Given the description of an element on the screen output the (x, y) to click on. 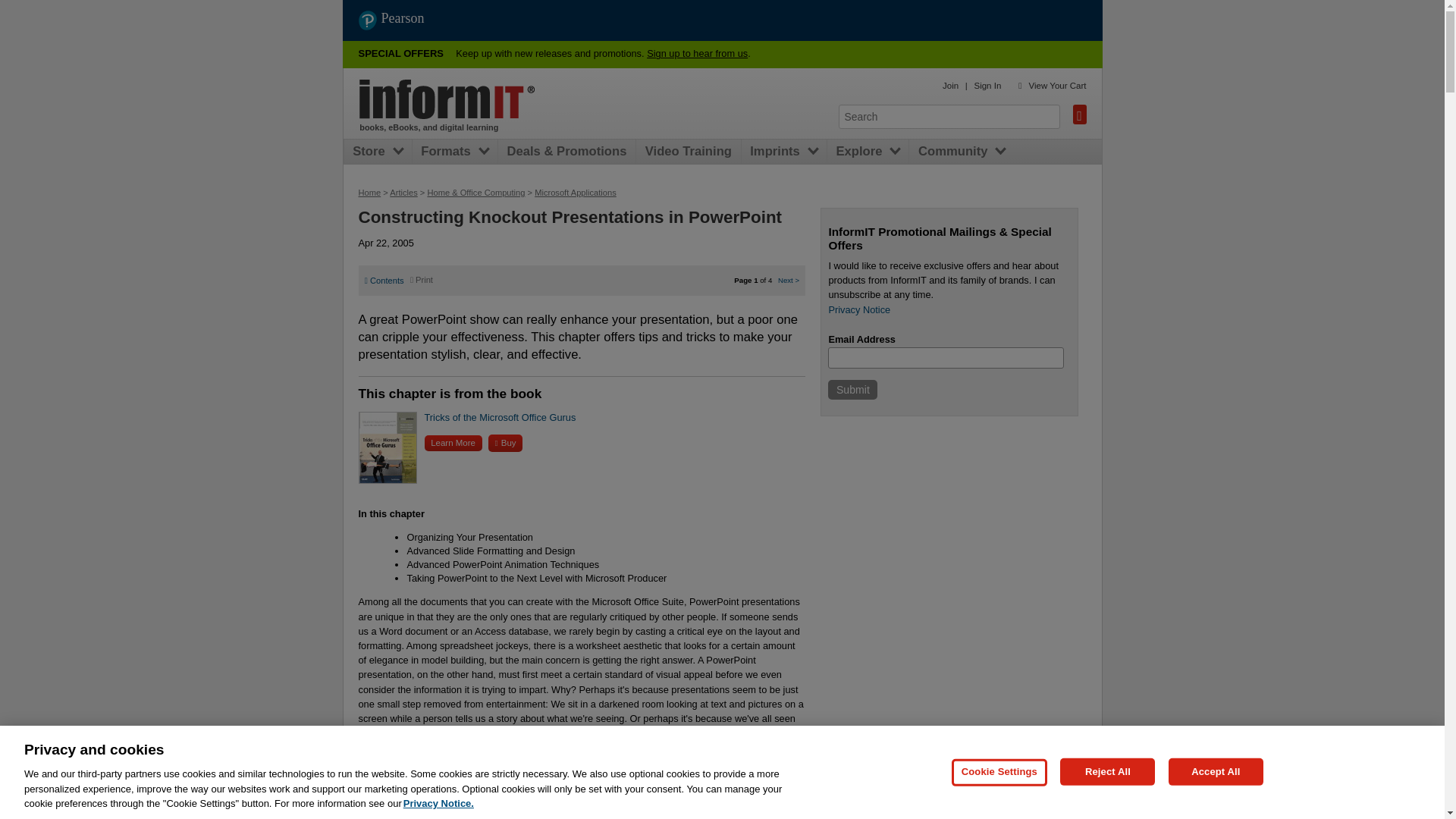
Home (446, 98)
Submit (852, 389)
Articles (403, 192)
Sign up to hear from us (697, 52)
Tricks of the Microsoft Office Gurus (500, 417)
Learn More (453, 442)
Microsoft Applications (574, 192)
Print (421, 279)
Home (369, 192)
